Given the description of an element on the screen output the (x, y) to click on. 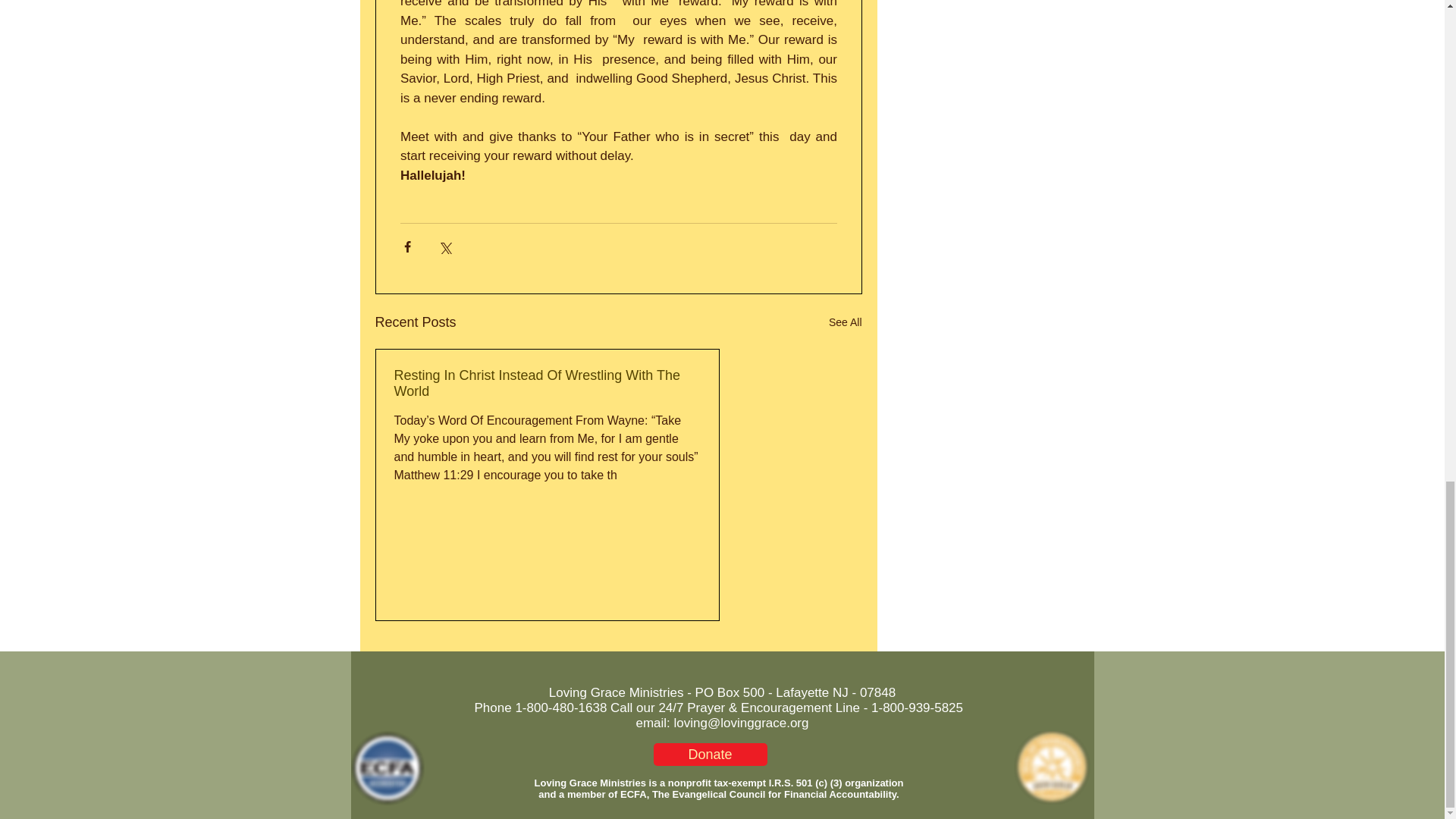
Resting In Christ Instead Of Wrestling With The World (547, 383)
See All (844, 322)
